Given the description of an element on the screen output the (x, y) to click on. 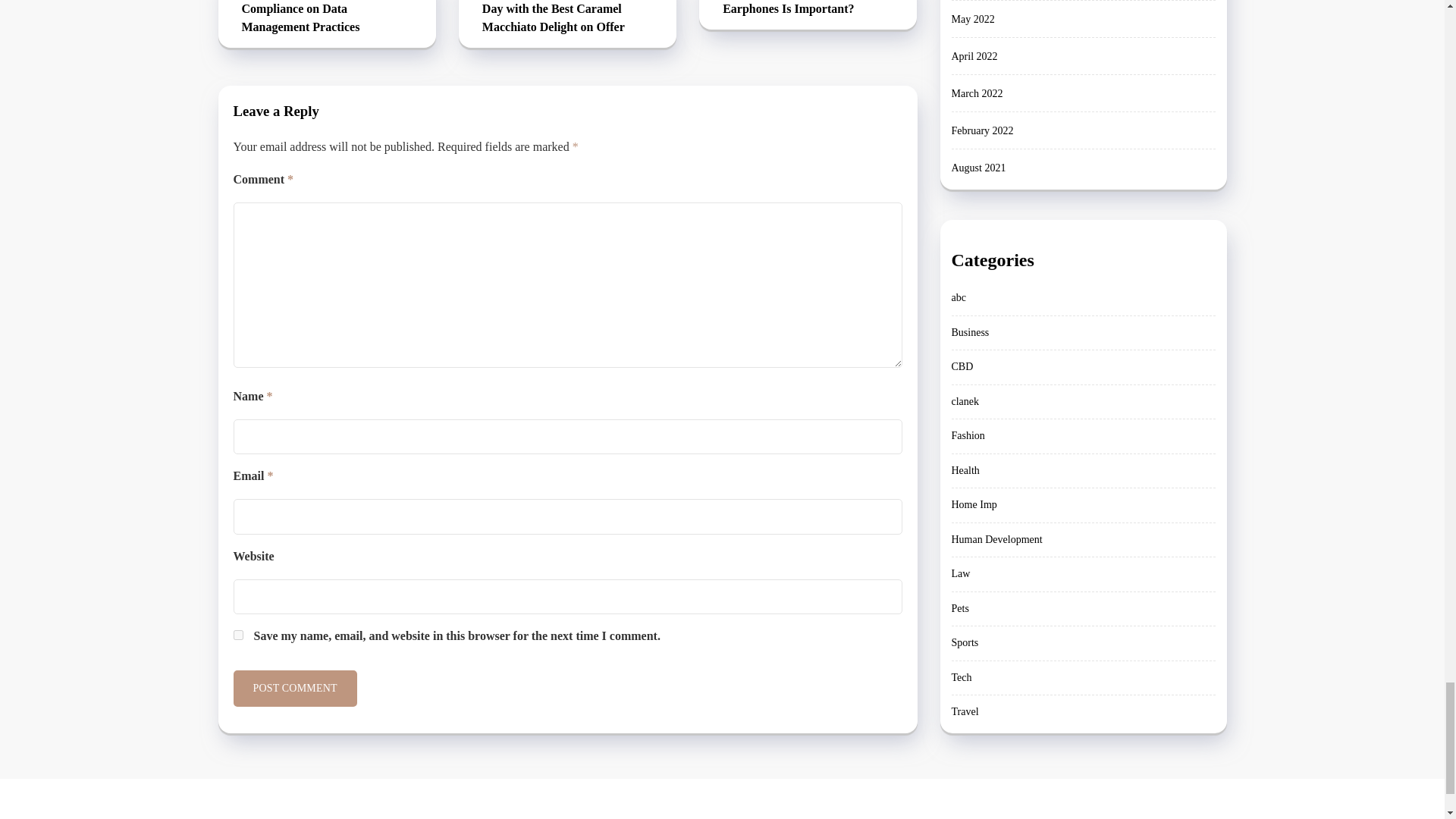
Post Comment (294, 688)
yes (237, 634)
